Given the description of an element on the screen output the (x, y) to click on. 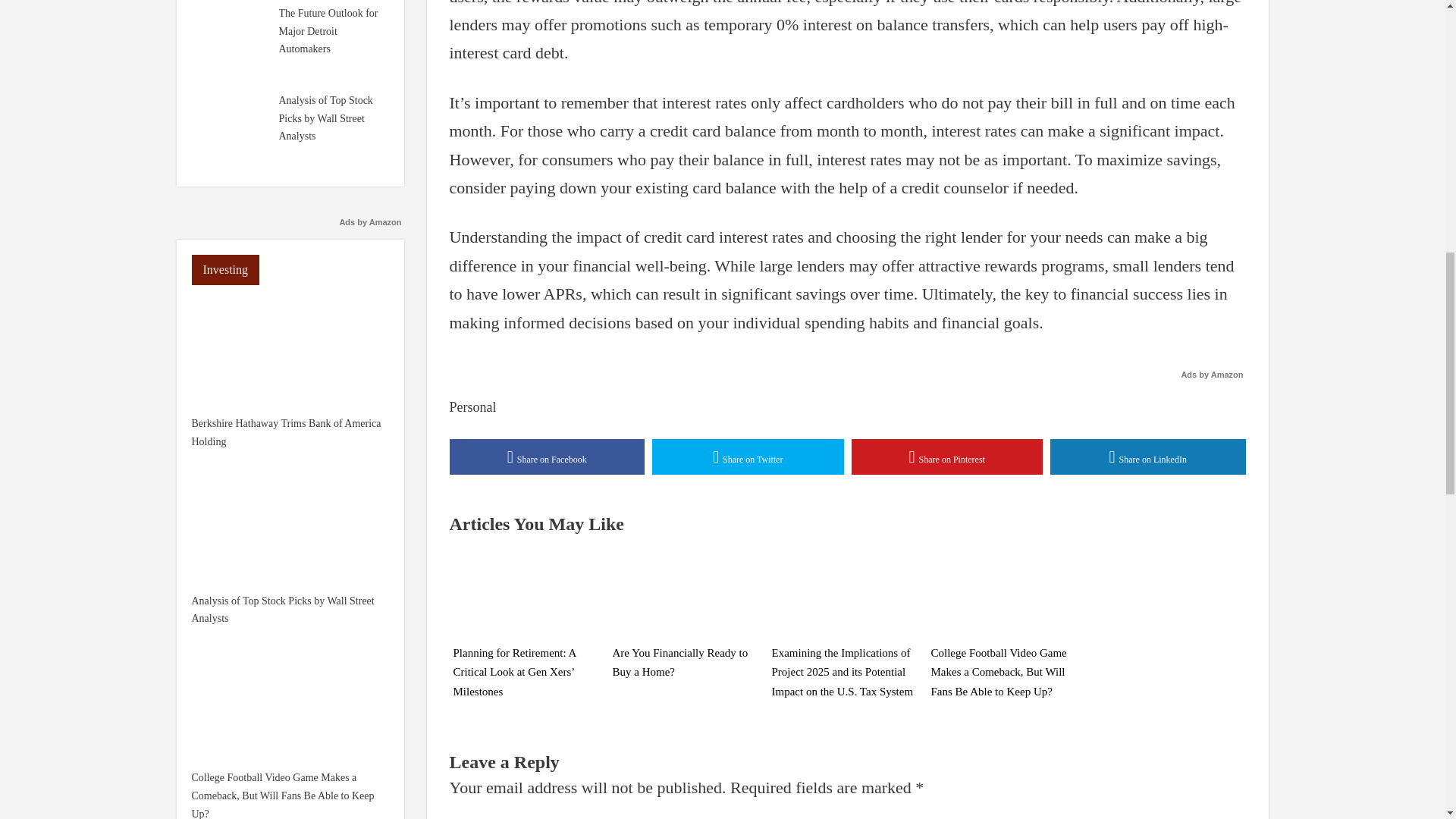
Personal (472, 406)
